Given the description of an element on the screen output the (x, y) to click on. 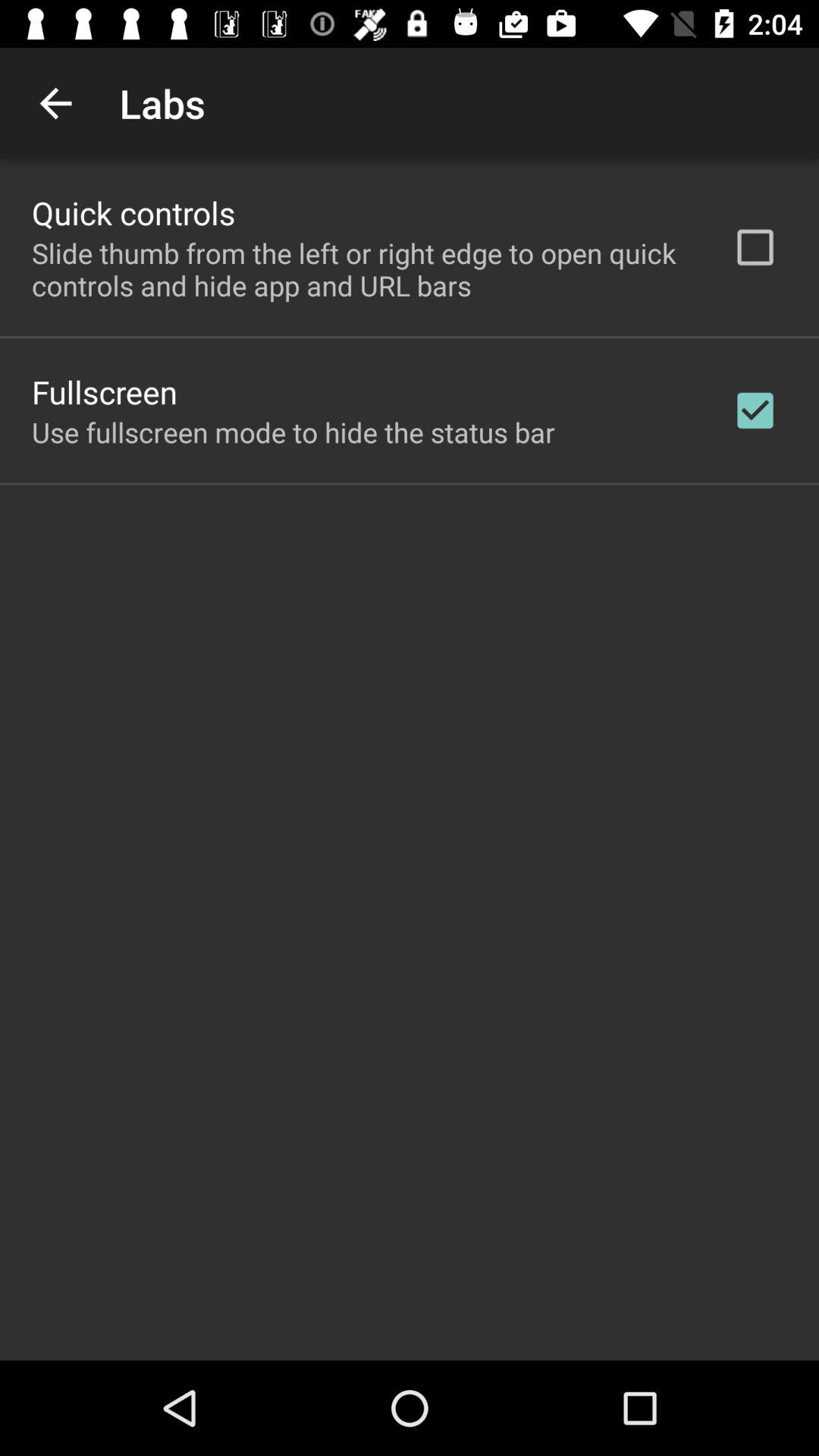
turn off the icon below quick controls app (361, 269)
